Given the description of an element on the screen output the (x, y) to click on. 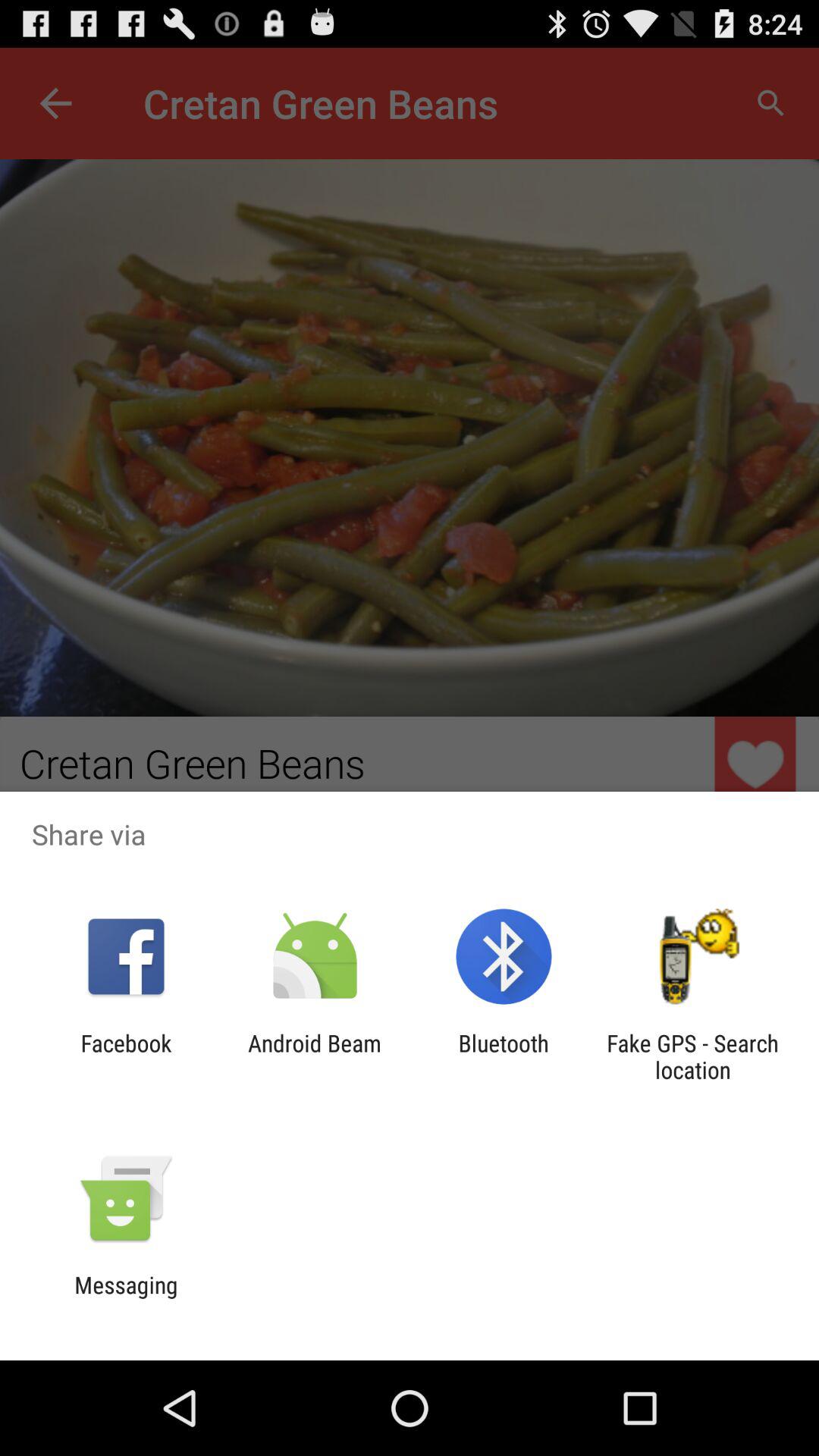
turn off item to the right of the android beam item (503, 1056)
